Given the description of an element on the screen output the (x, y) to click on. 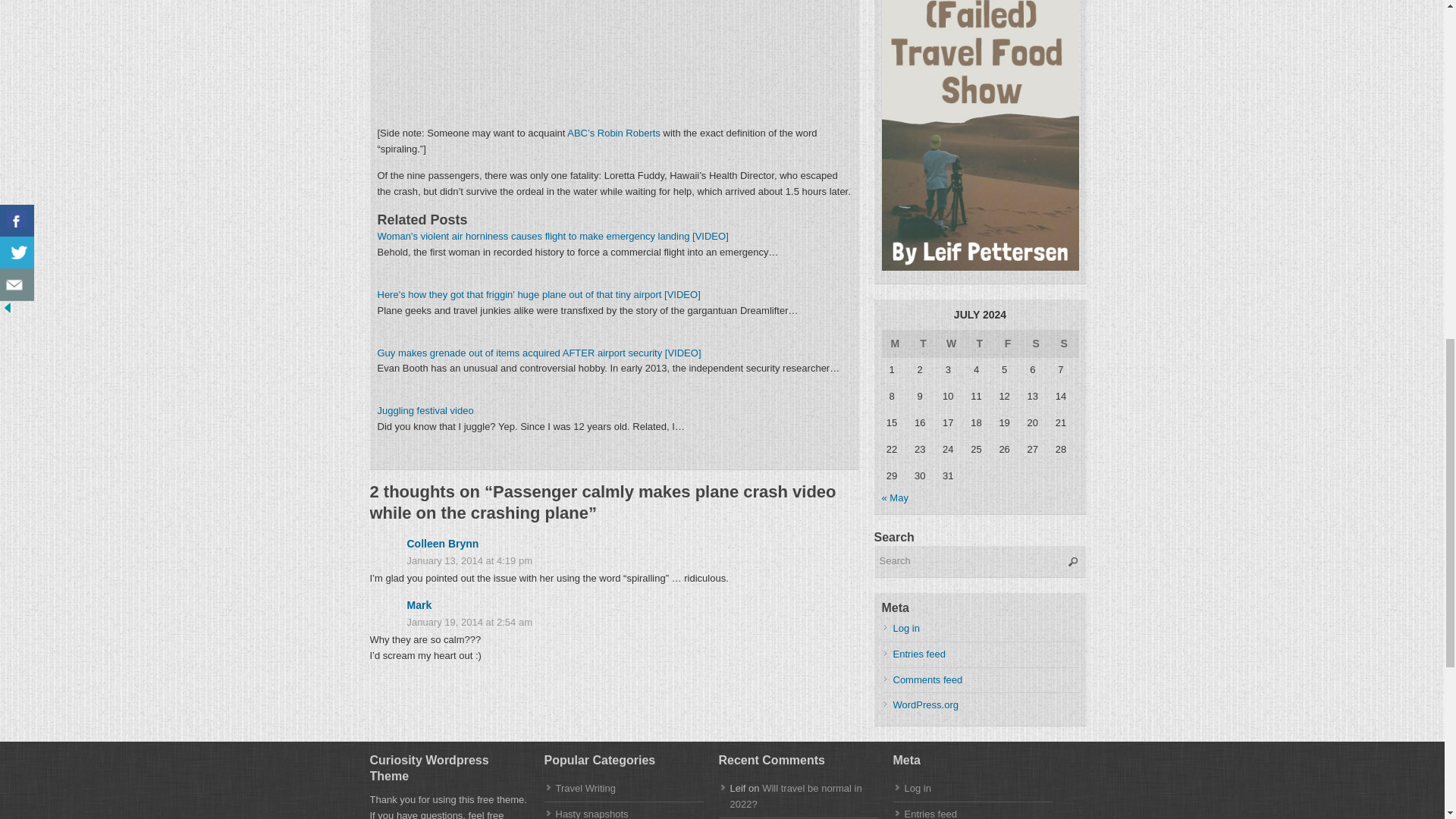
Wednesday (951, 343)
Will travel be normal in 2022? (795, 795)
Travel Writing (584, 787)
Entries feed (918, 654)
Entries feed (930, 813)
January 13, 2014 at 4:19 pm (614, 561)
Juggling festival video (425, 410)
Tuesday (923, 343)
January 19, 2014 at 2:54 am (614, 622)
Friday (1008, 343)
